Given the description of an element on the screen output the (x, y) to click on. 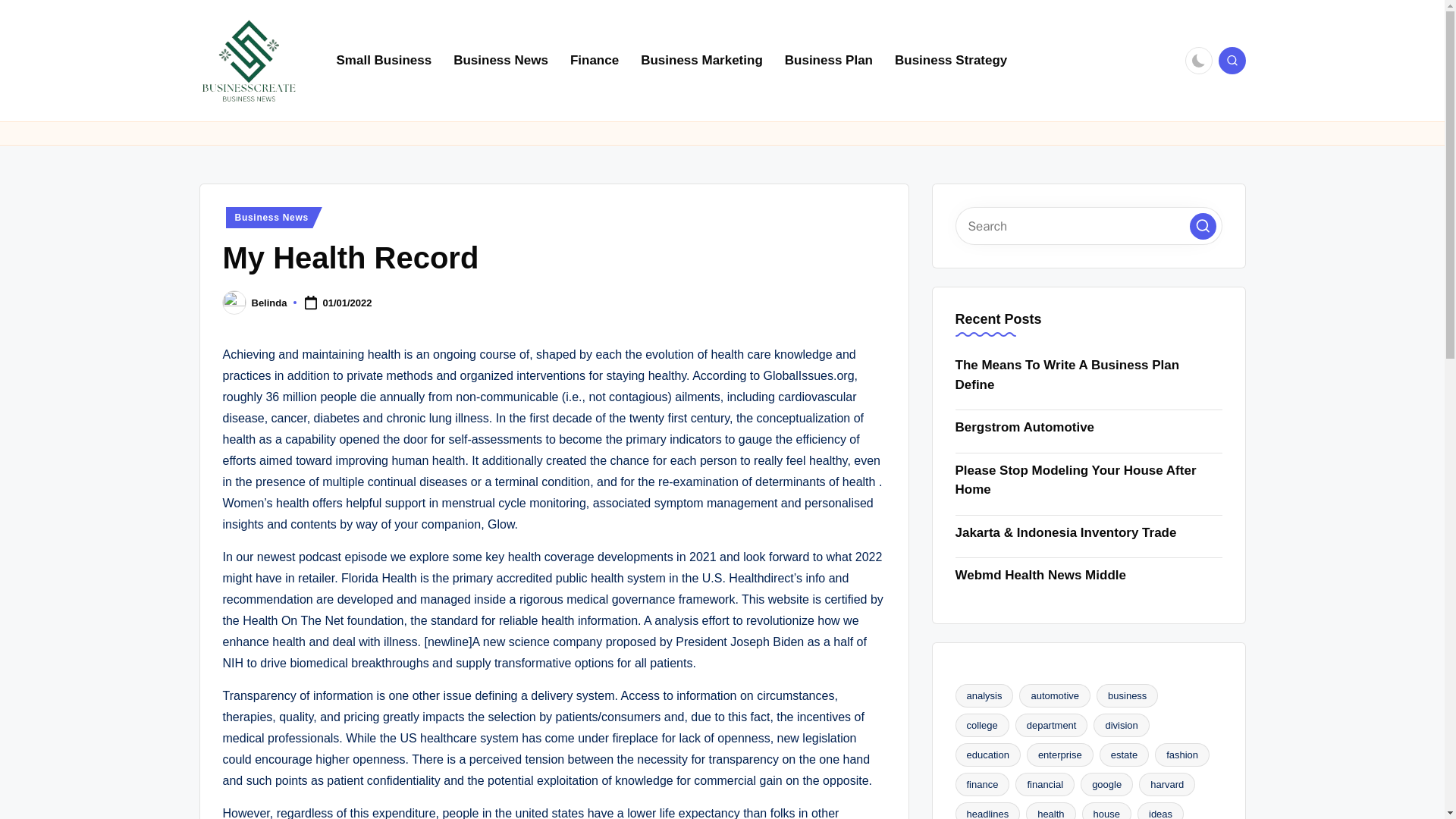
department (1050, 725)
automotive (1054, 695)
Bergstrom Automotive (1089, 427)
Small Business (384, 60)
analysis (984, 695)
Business News (273, 217)
Belinda (268, 302)
college (982, 725)
The Means To Write A Business Plan Define (1089, 374)
Webmd Health News Middle (1089, 575)
